Given the description of an element on the screen output the (x, y) to click on. 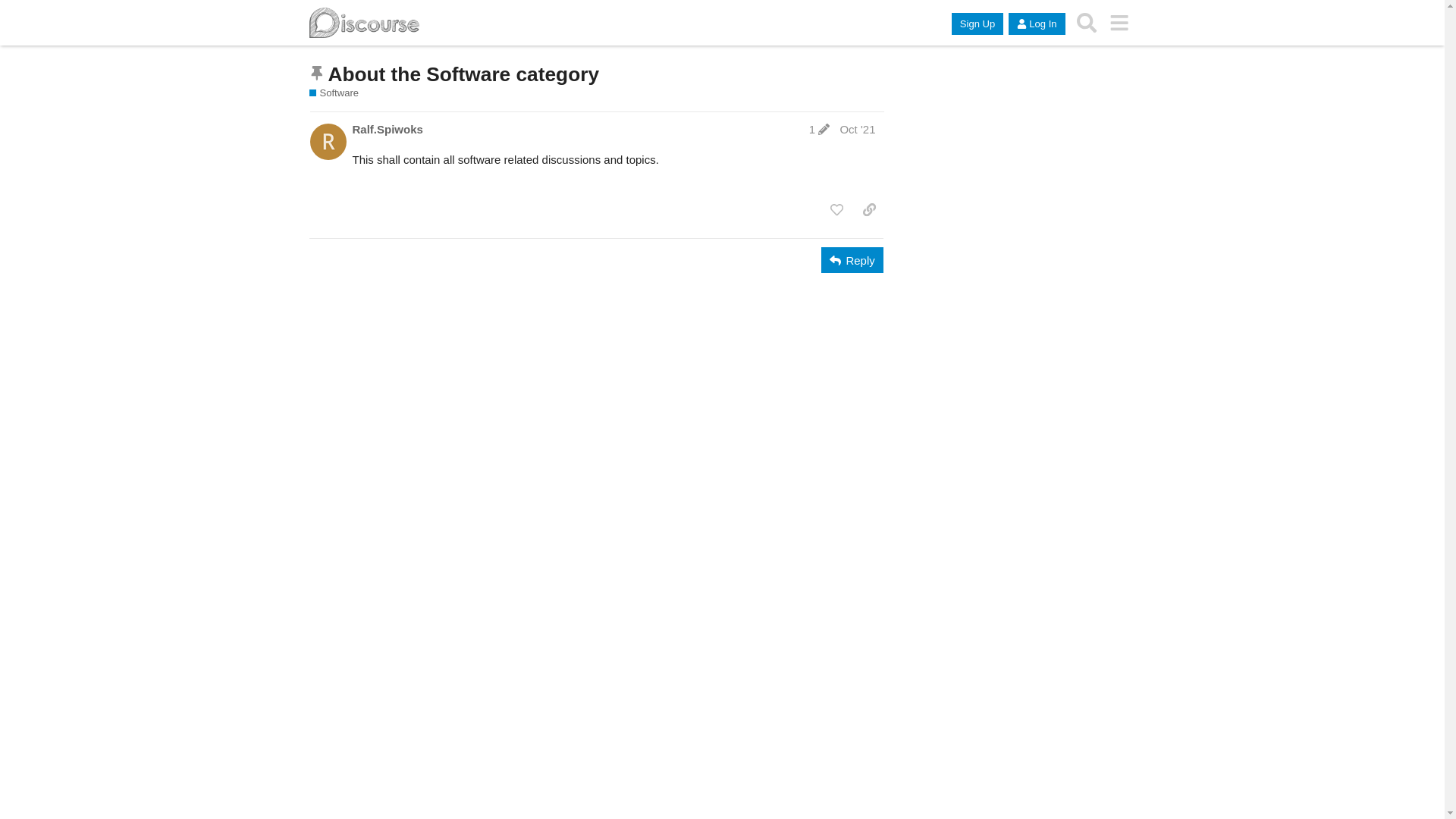
Reply Element type: text (852, 260)
1 Element type: text (819, 128)
share a link to this post Element type: hover (869, 209)
like this post Element type: hover (836, 209)
Software Element type: text (334, 93)
Ralf.Spiwoks Element type: text (386, 129)
Oct '21 Element type: text (857, 128)
Sign Up Element type: text (977, 23)
Log In Element type: text (1036, 23)
menu Element type: hover (1119, 22)
About the Software category Element type: text (463, 73)
Search Element type: hover (1086, 22)
